Given the description of an element on the screen output the (x, y) to click on. 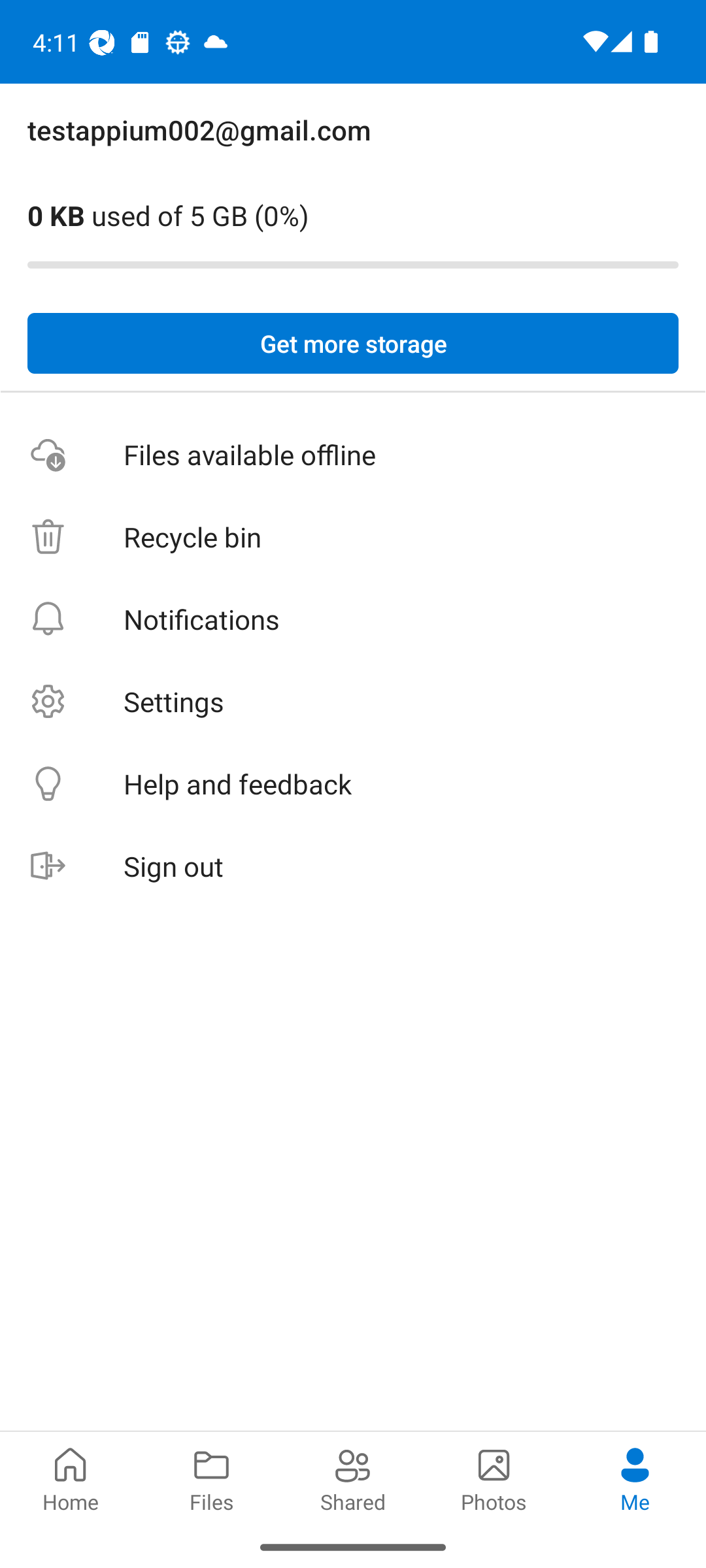
Get more storage (352, 343)
Files available offline (353, 454)
Recycle bin (353, 536)
Notifications (353, 619)
Settings (353, 701)
Help and feedback (353, 783)
Sign out (353, 865)
Home pivot Home (70, 1478)
Files pivot Files (211, 1478)
Shared pivot Shared (352, 1478)
Photos pivot Photos (493, 1478)
